Given the description of an element on the screen output the (x, y) to click on. 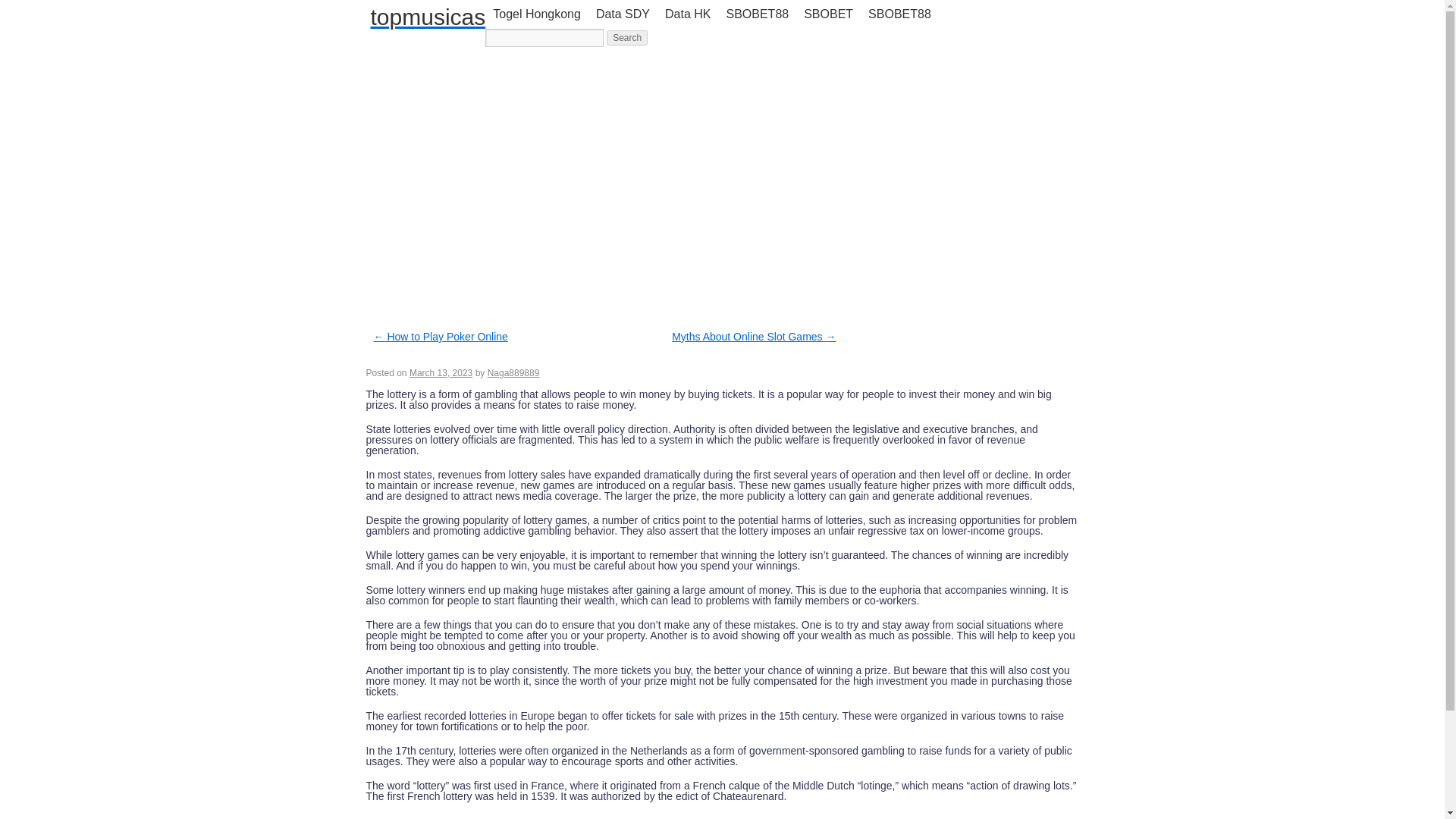
Data HK (687, 14)
Search (627, 37)
SBOBET (828, 14)
View all posts by Naga889889 (513, 372)
Togel Hongkong (536, 14)
SBOBET88 (756, 14)
Search (627, 37)
topmusicas (426, 16)
SBOBET88 (899, 14)
Data SDY (623, 14)
March 13, 2023 (440, 372)
1:15 am (440, 372)
Naga889889 (513, 372)
